Given the description of an element on the screen output the (x, y) to click on. 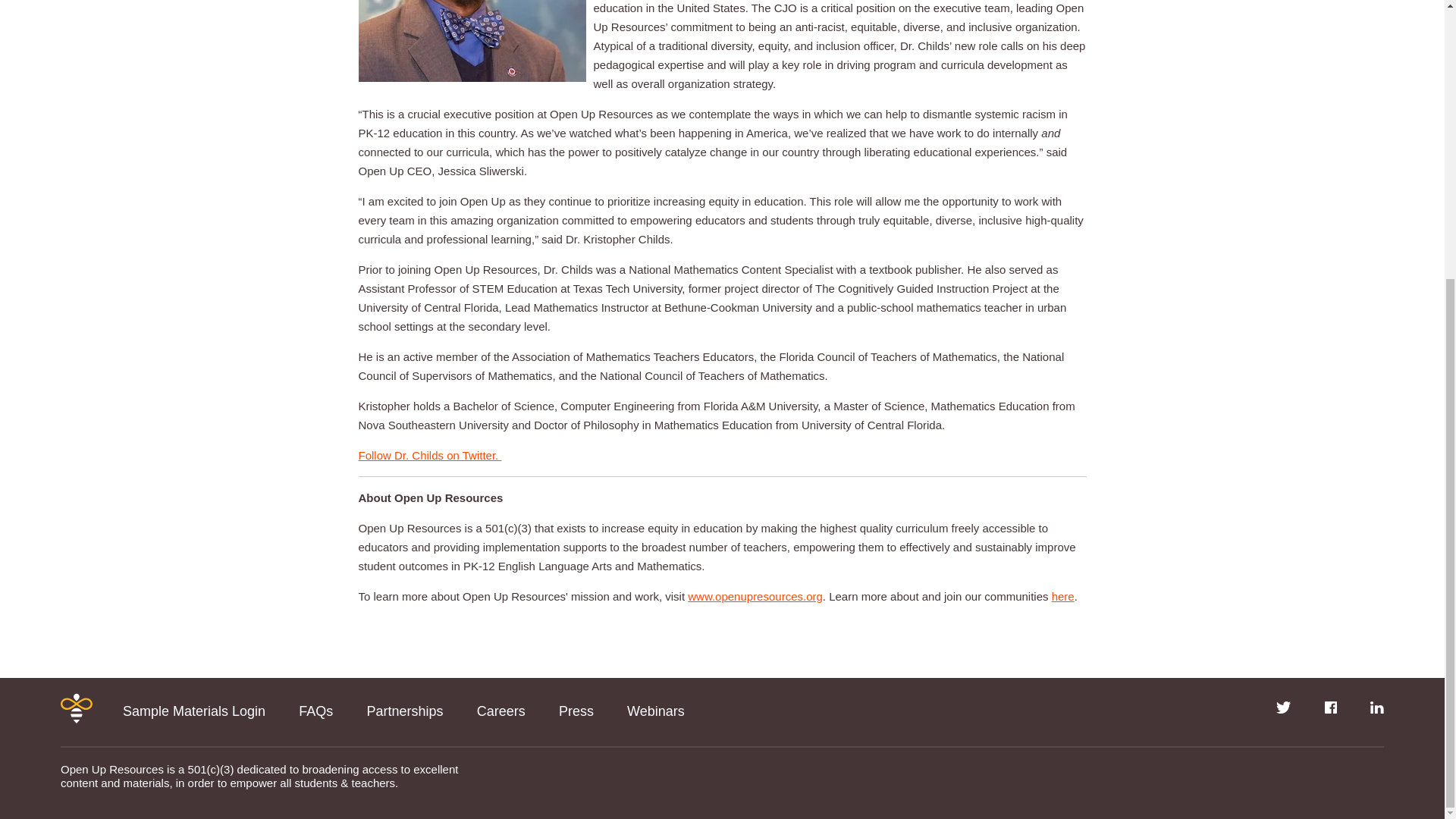
Partnerships (404, 711)
FAQs (315, 711)
Careers (501, 711)
Press (576, 711)
www.openupresources.org (754, 595)
Webinars (655, 711)
here (1062, 595)
Sample Materials Login (193, 711)
Follow Dr. Childs on Twitter.  (429, 454)
